Given the description of an element on the screen output the (x, y) to click on. 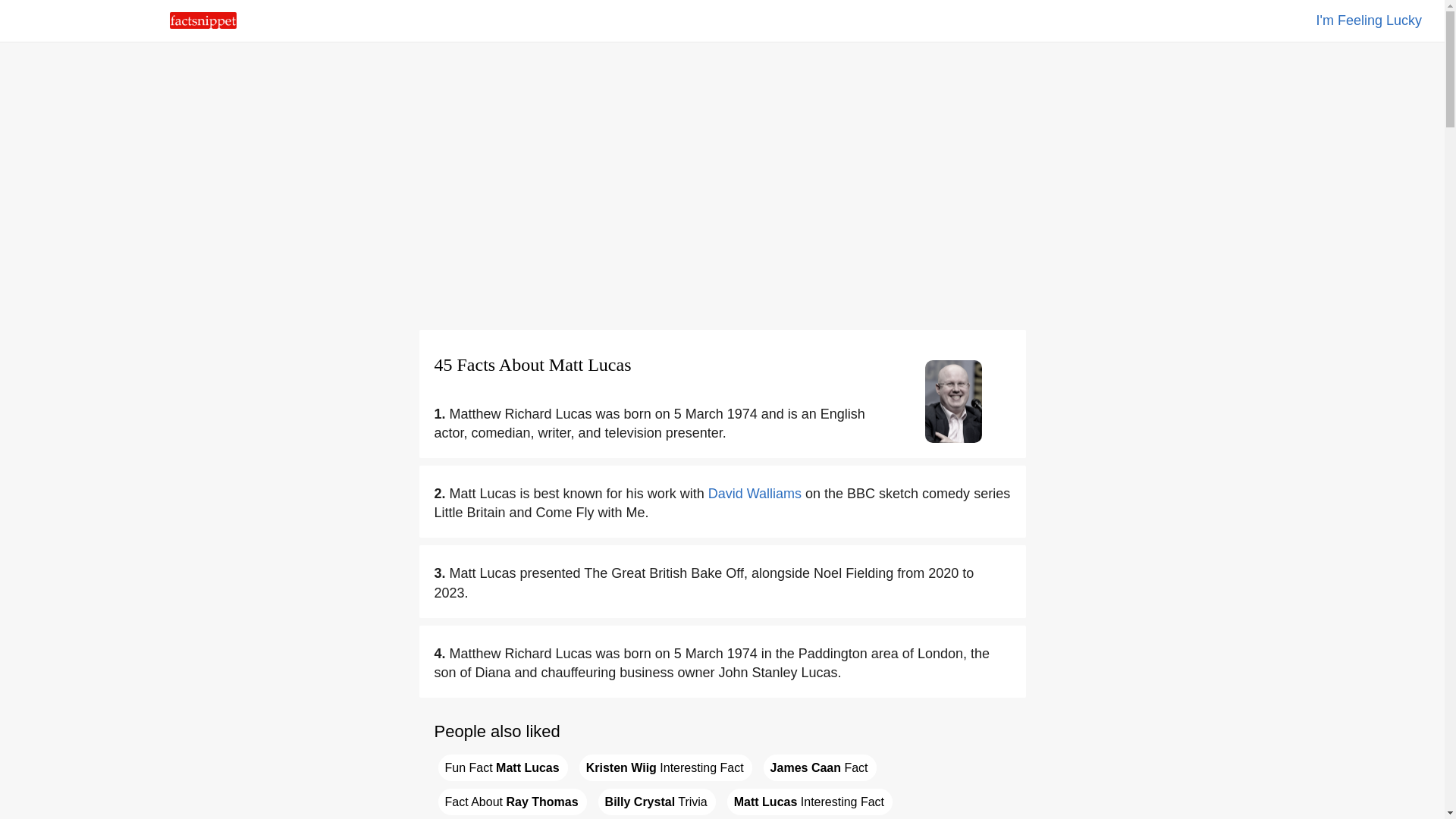
I'm Feeling Lucky (1369, 20)
Kristen Wiig Interesting Fact (665, 767)
David Walliams (754, 493)
Matt Lucas Interesting Fact (809, 801)
Kristen Wiig Interesting Fact (665, 767)
Billy Crystal Trivia (657, 801)
Fun Fact Matt Lucas (502, 767)
Ruth Behar (1369, 20)
Fact About Ray Thomas (512, 801)
Billy Crystal Trivia (657, 801)
